Given the description of an element on the screen output the (x, y) to click on. 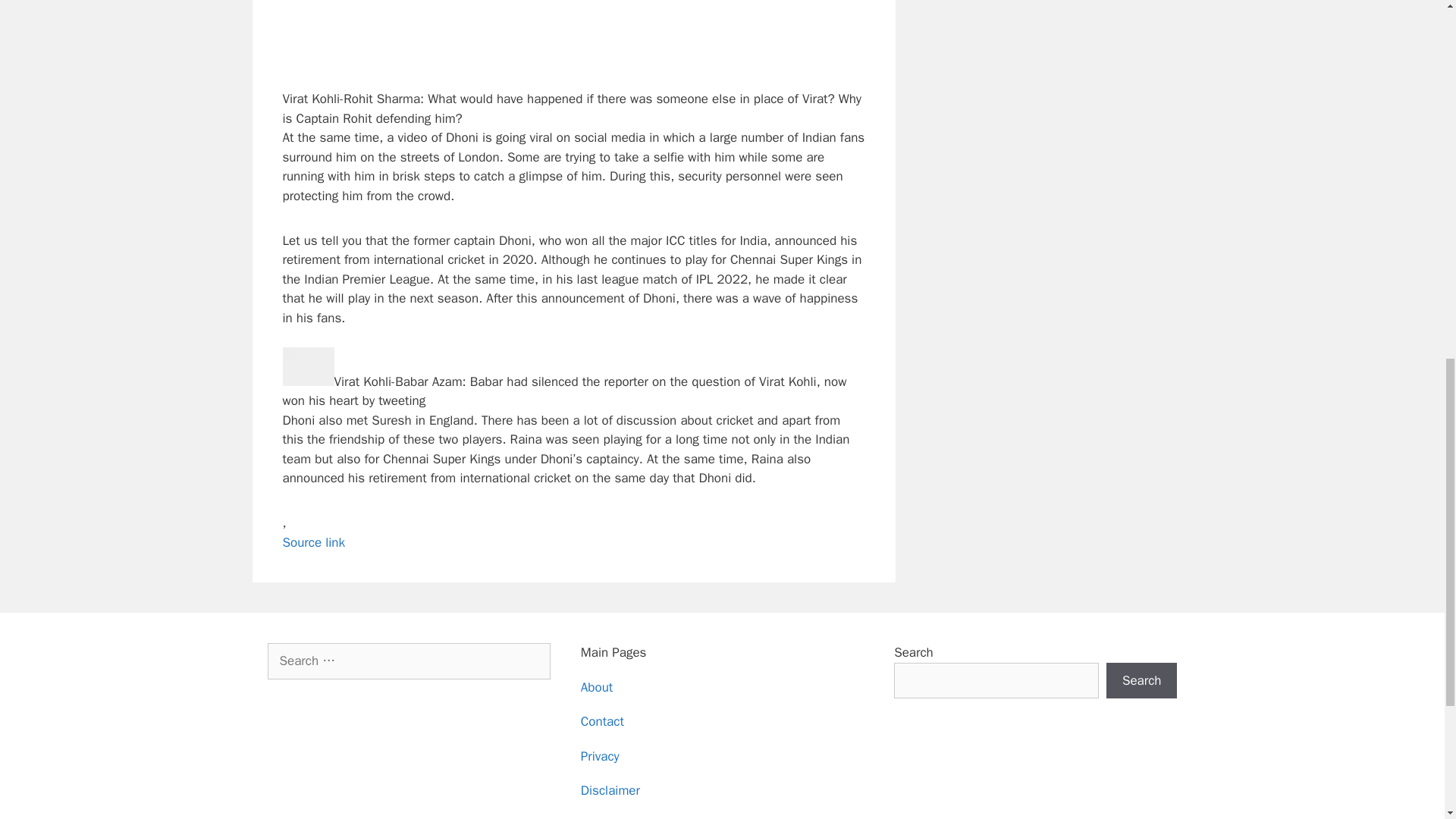
Search for: (408, 660)
Source link (313, 542)
Privacy (600, 756)
Contact (602, 721)
Advertisement (588, 41)
About (596, 687)
Disclaimer (610, 790)
Scroll back to top (1406, 720)
